Given the description of an element on the screen output the (x, y) to click on. 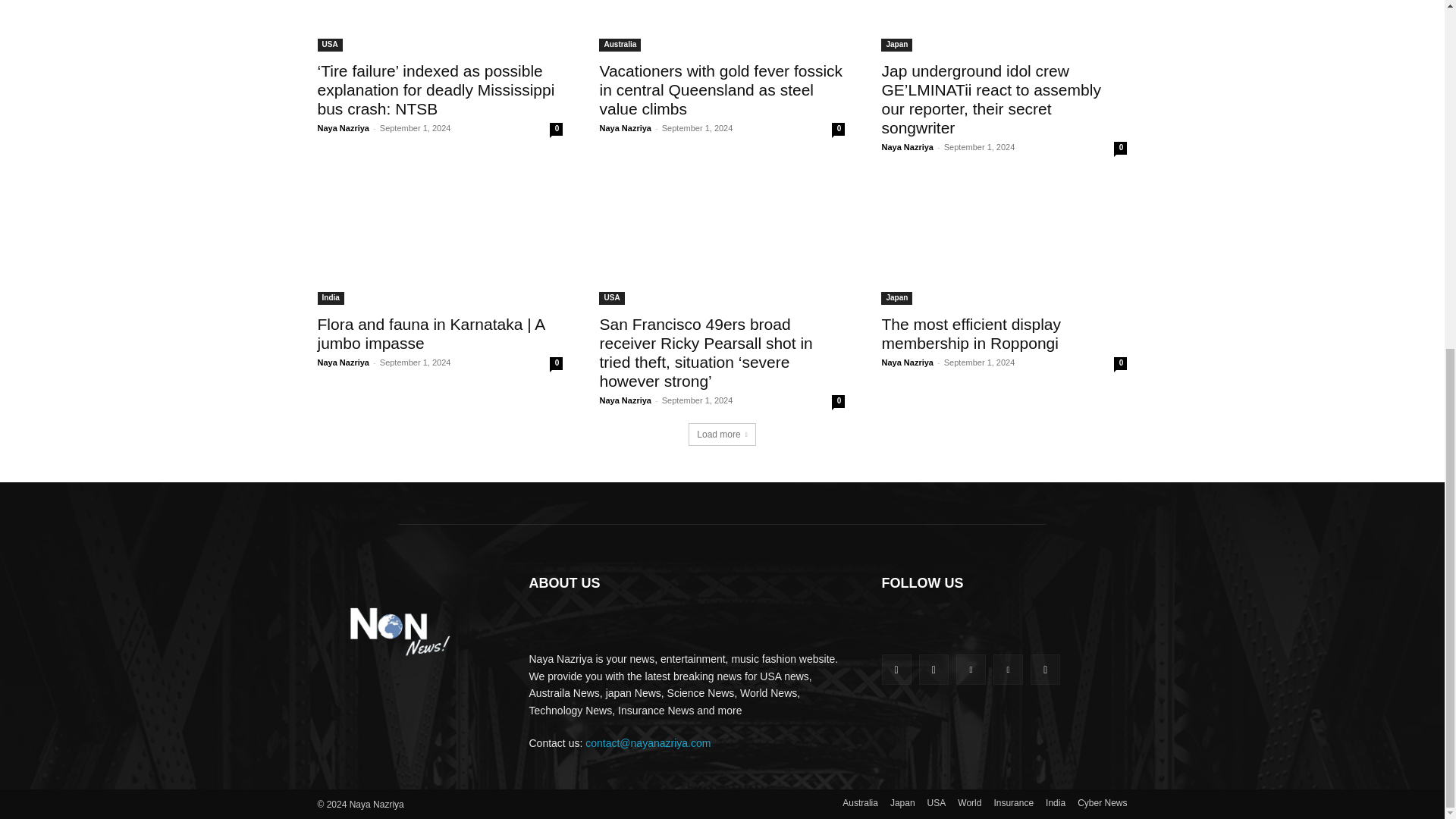
Naya Nazriya (906, 146)
Japan (896, 44)
Naya Nazriya (624, 127)
USA (329, 44)
0 (1119, 147)
Naya Nazriya (343, 127)
0 (556, 128)
Australia (619, 44)
